Given the description of an element on the screen output the (x, y) to click on. 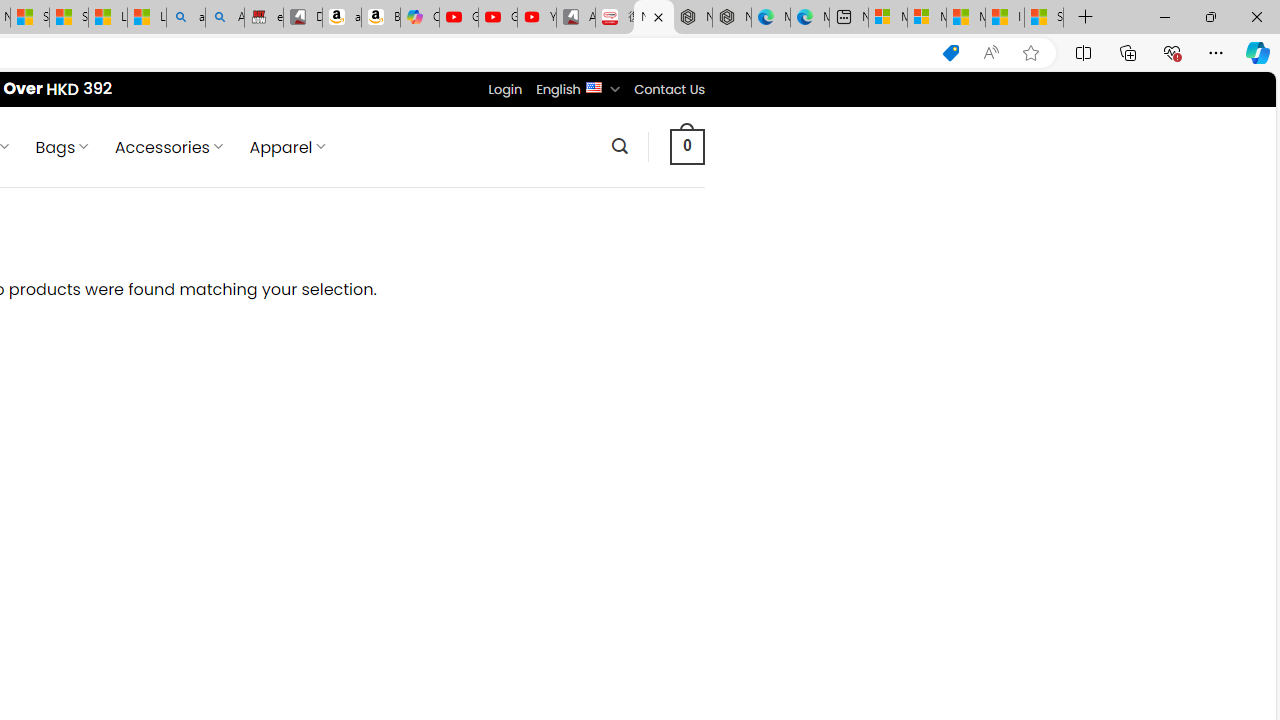
Minimize (1164, 16)
New tab (848, 17)
Login (505, 89)
Contact Us (669, 89)
Read aloud this page (Ctrl+Shift+U) (991, 53)
Restore (1210, 16)
Copilot (Ctrl+Shift+.) (1258, 52)
Split screen (1083, 52)
English (592, 86)
  0   (687, 146)
Browser essentials (1171, 52)
